Given the description of an element on the screen output the (x, y) to click on. 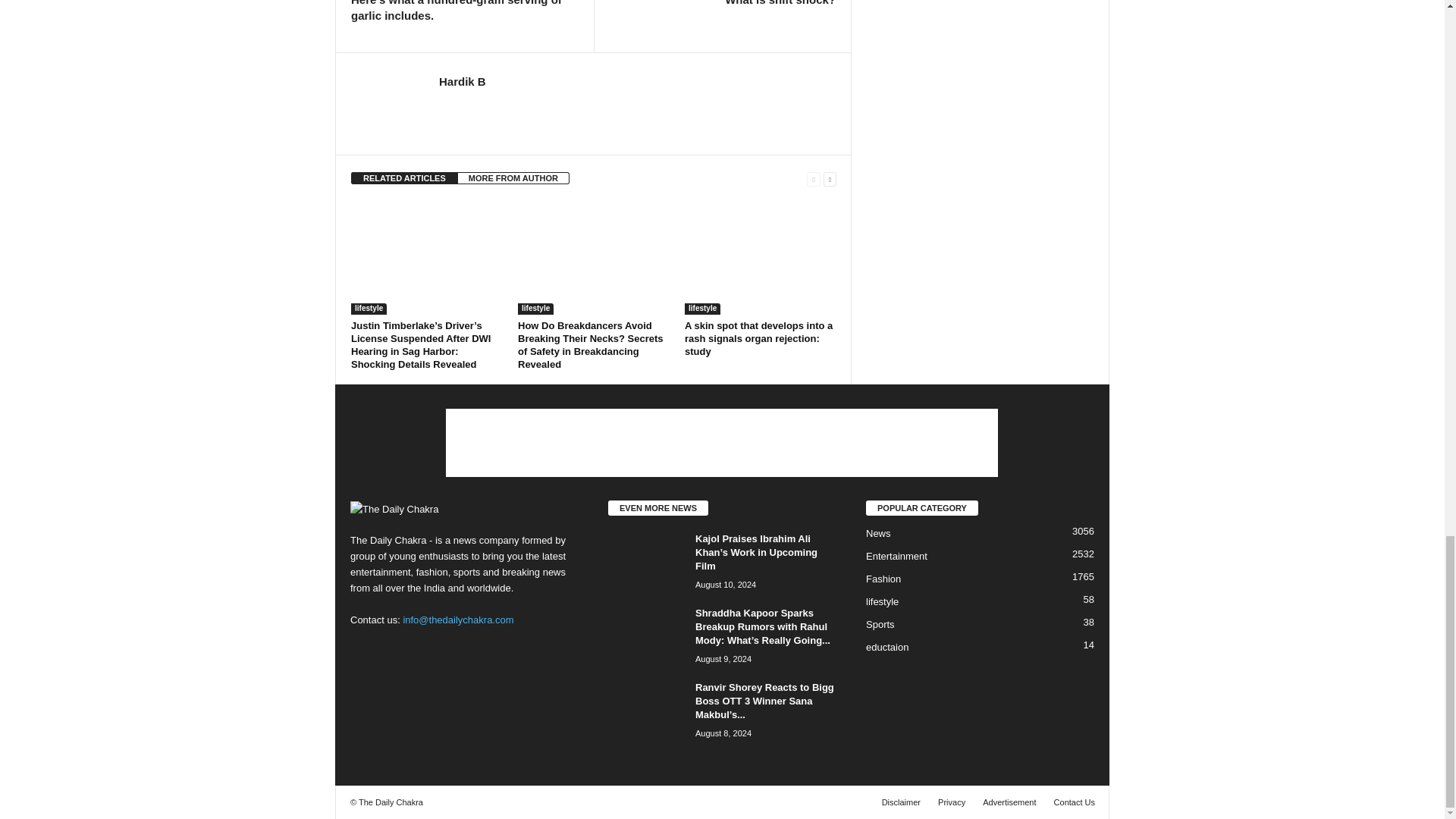
The Daily Chakra - News Redefined (464, 508)
